Given the description of an element on the screen output the (x, y) to click on. 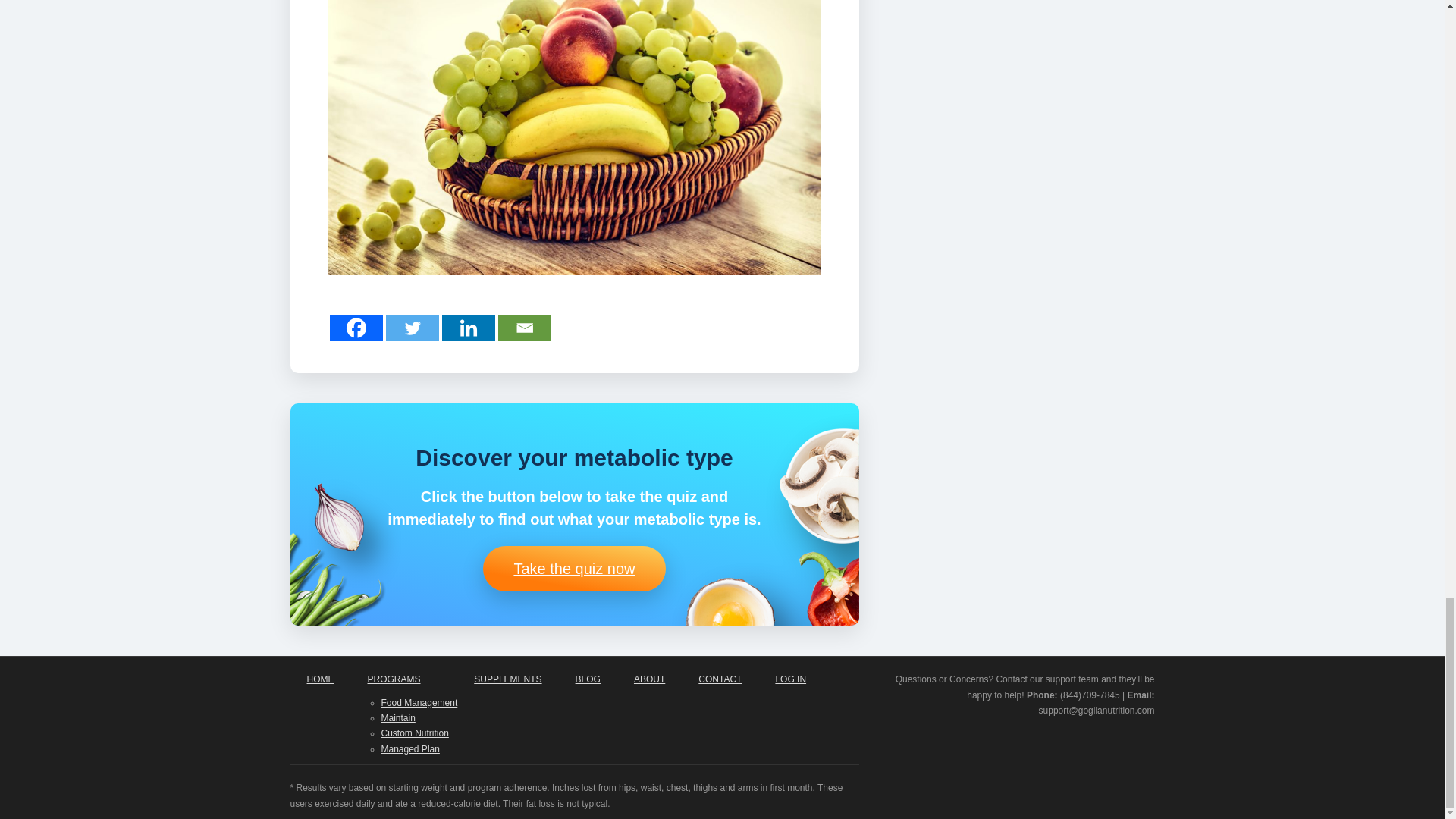
Custom Nutrition (414, 733)
PROGRAMS (403, 679)
Facebook (355, 327)
Maintain (397, 717)
Food Management (418, 702)
SUPPLEMENTS (507, 679)
HOME (319, 679)
Managed Plan (409, 748)
Twitter (411, 327)
Take the quiz now (574, 568)
BLOG (588, 679)
ABOUT (649, 679)
